Given the description of an element on the screen output the (x, y) to click on. 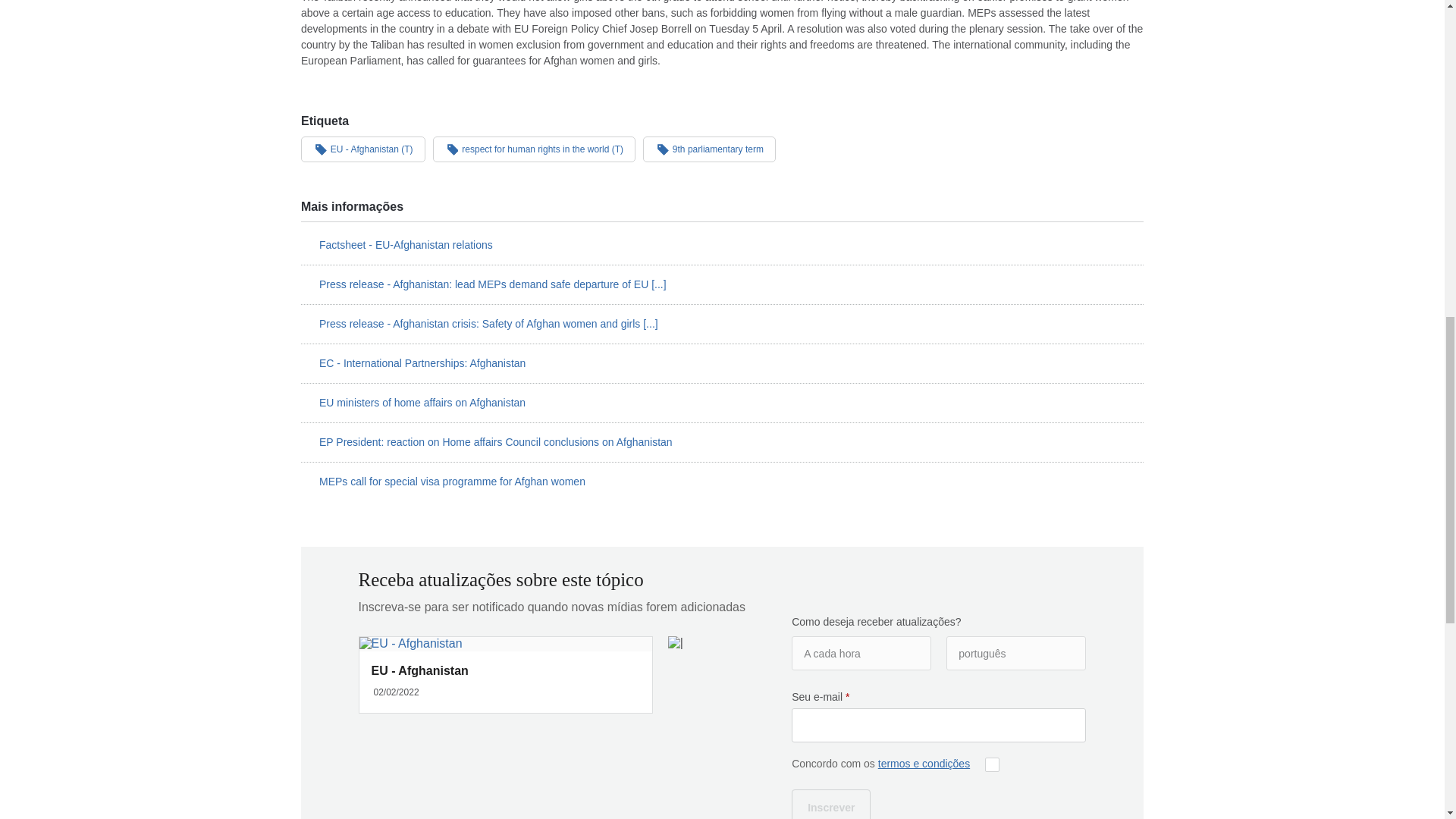
Inscrever (831, 804)
on (991, 764)
